Given the description of an element on the screen output the (x, y) to click on. 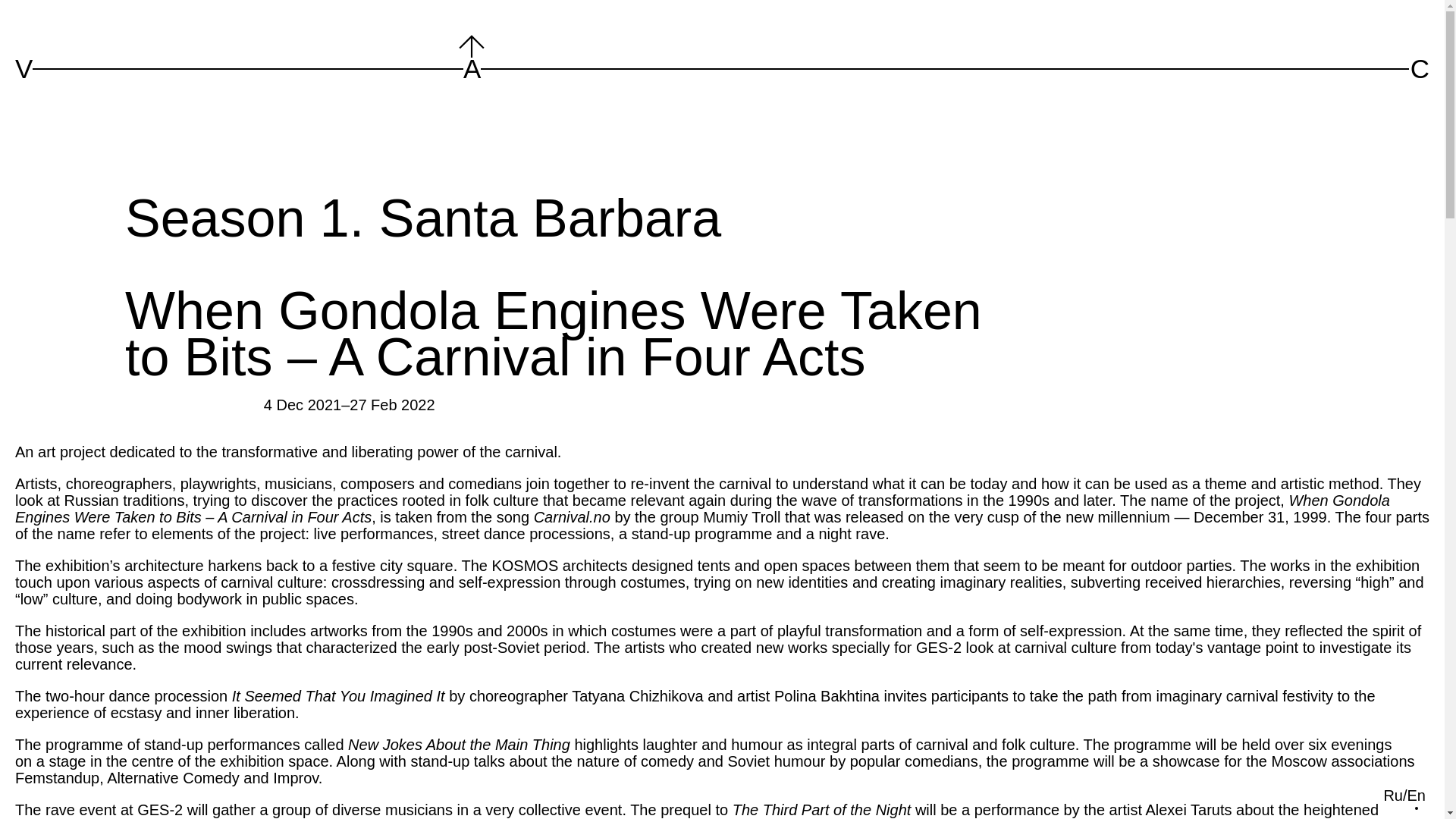
En (1416, 795)
Season 1. Santa Barbara (422, 218)
Ru (1393, 795)
